Given the description of an element on the screen output the (x, y) to click on. 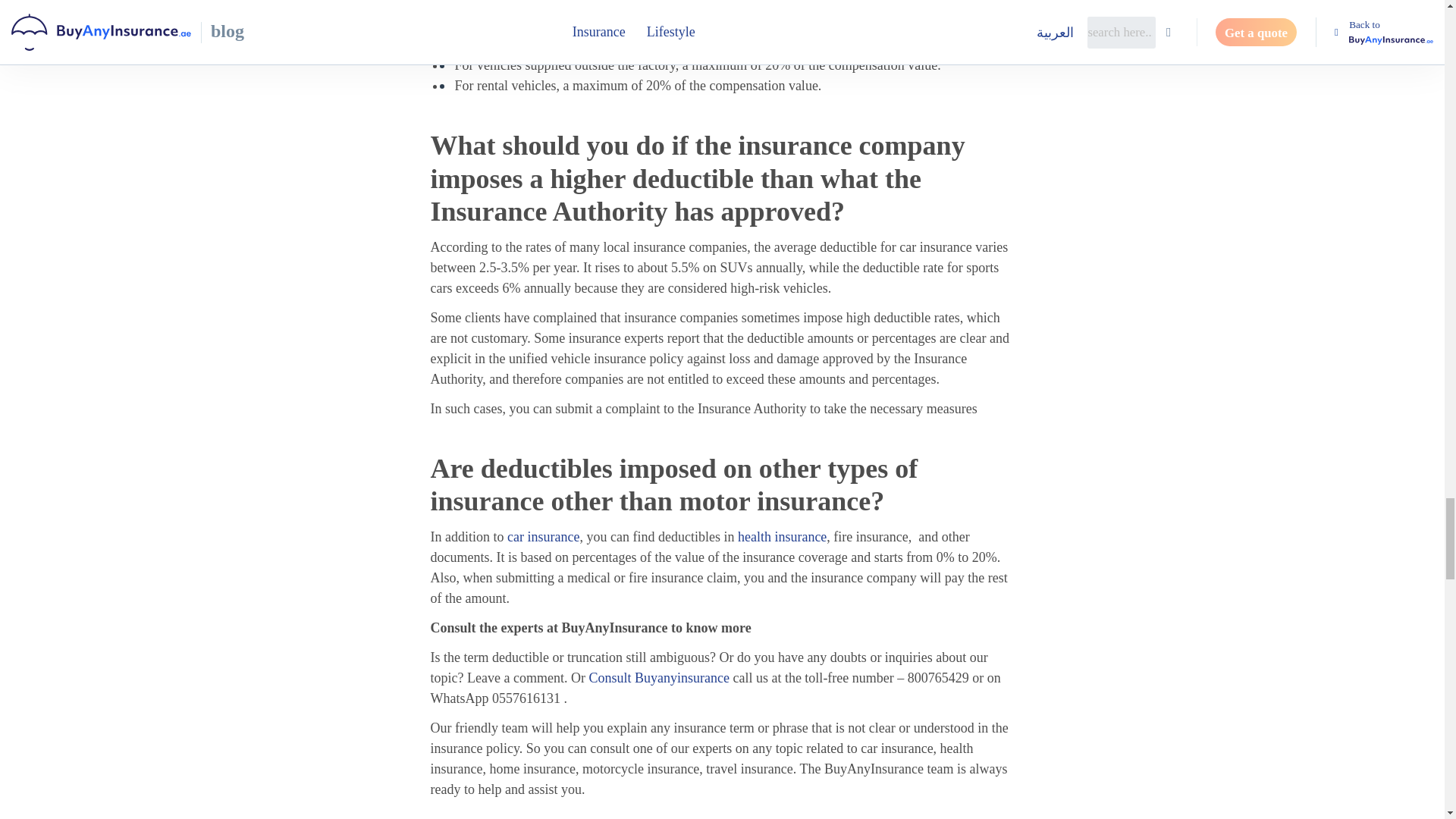
car insurance (542, 536)
health insurance (782, 536)
Consult Buyanyinsurance (658, 677)
